Given the description of an element on the screen output the (x, y) to click on. 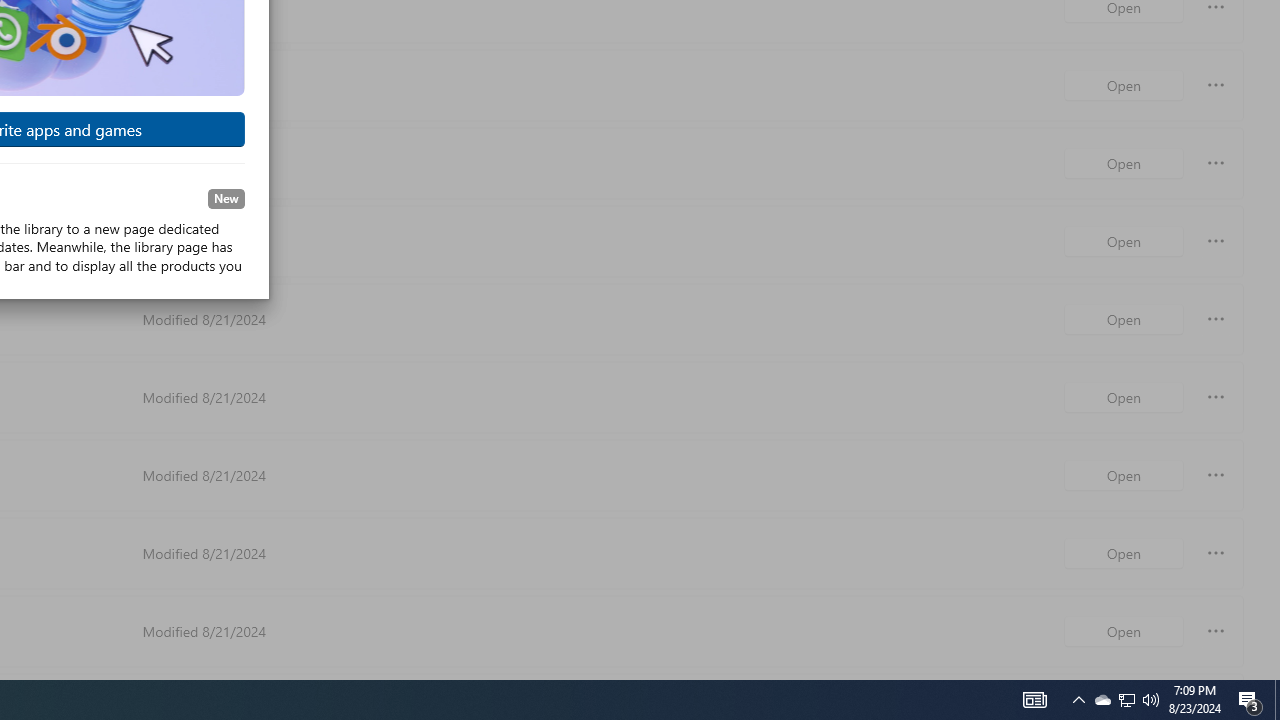
Open (1123, 630)
More options (1215, 630)
